Given the description of an element on the screen output the (x, y) to click on. 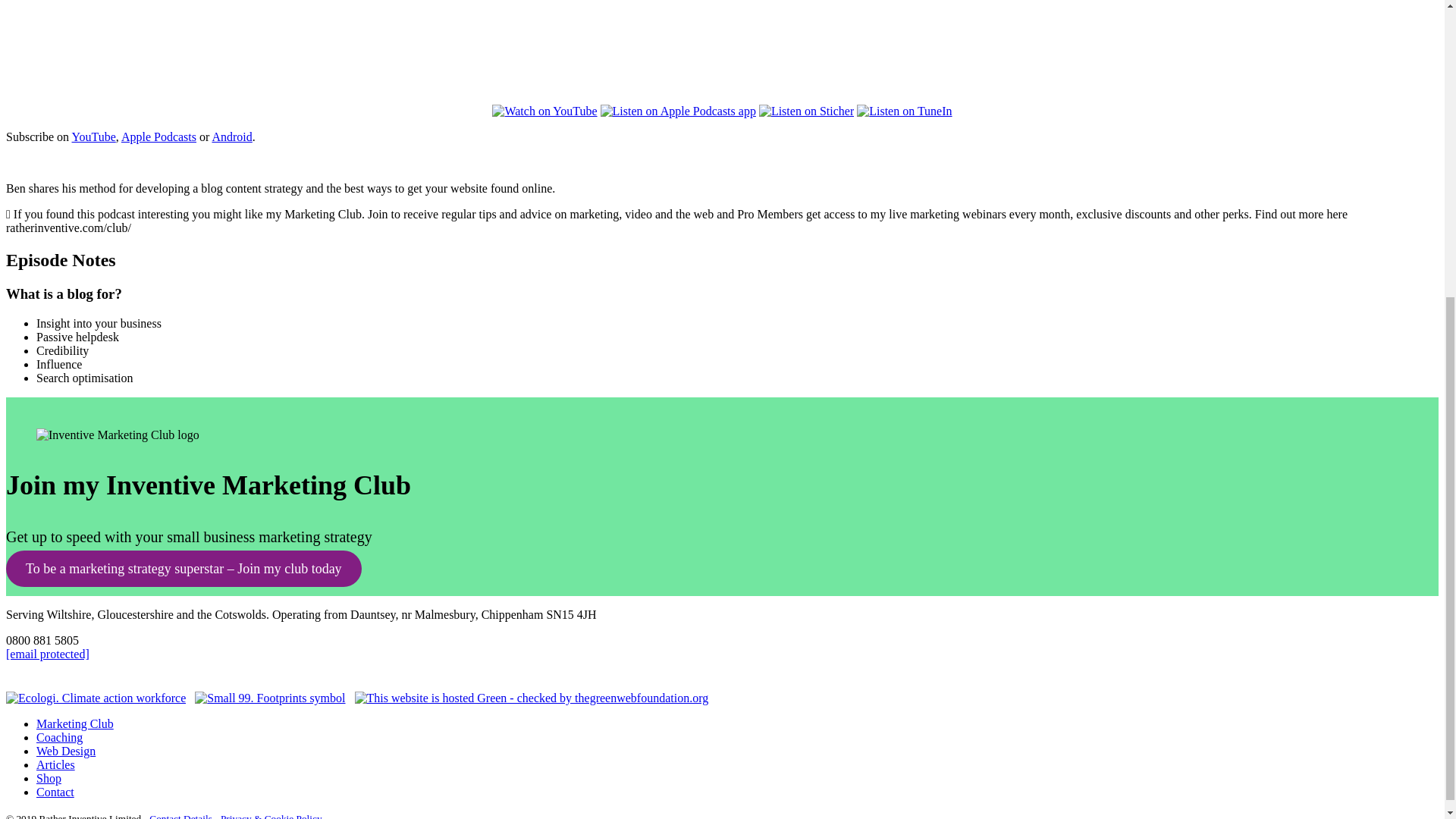
View our carbon reduction plan (270, 697)
Android (231, 136)
View our Ecologi profile (95, 697)
Apple Podcasts (158, 136)
Marketing Club (74, 723)
Contact (55, 791)
Subscribe on Android (231, 136)
Coaching (59, 737)
Shop (48, 778)
YouTube (93, 136)
Articles (55, 764)
Web Design (66, 750)
